Given the description of an element on the screen output the (x, y) to click on. 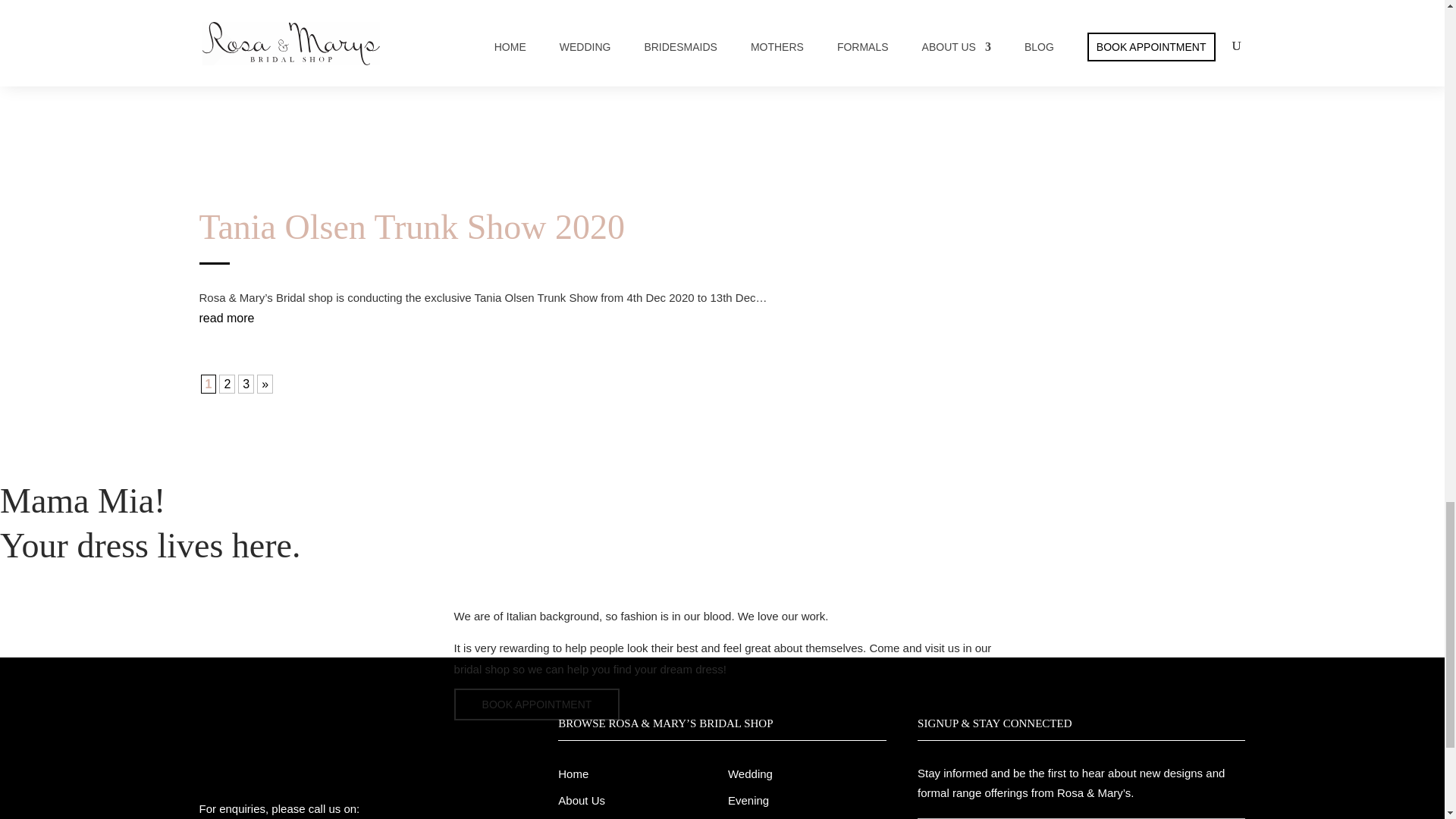
About Us (581, 799)
Home (572, 773)
Tania Olsen Trunk Show 2020 (411, 227)
read more (225, 318)
BOOK APPOINTMENT (537, 704)
